Given the description of an element on the screen output the (x, y) to click on. 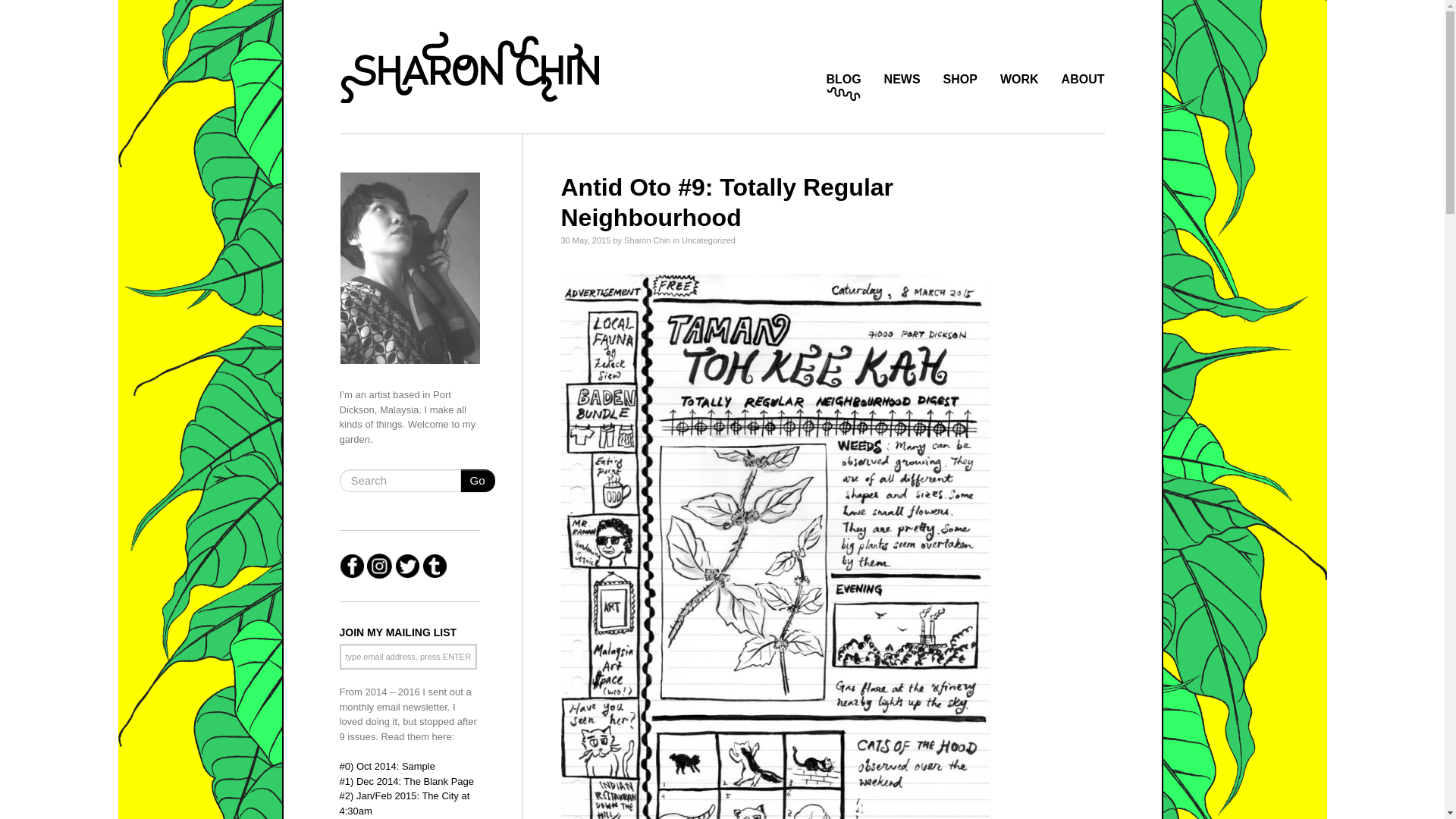
Skip to secondary content (348, 7)
WORK (1019, 79)
30 May, 2015 (585, 239)
BLOG (842, 79)
Skip to primary content (340, 7)
Sharon Chin (468, 64)
ABOUT (1083, 79)
Skip to secondary content (348, 7)
SHOP (959, 79)
Sharon Chin (375, 22)
NEWS (901, 79)
View all posts by Sharon Chin (646, 239)
Sharon Chin (375, 22)
Uncategorized (708, 239)
Skip to primary content (340, 7)
